Given the description of an element on the screen output the (x, y) to click on. 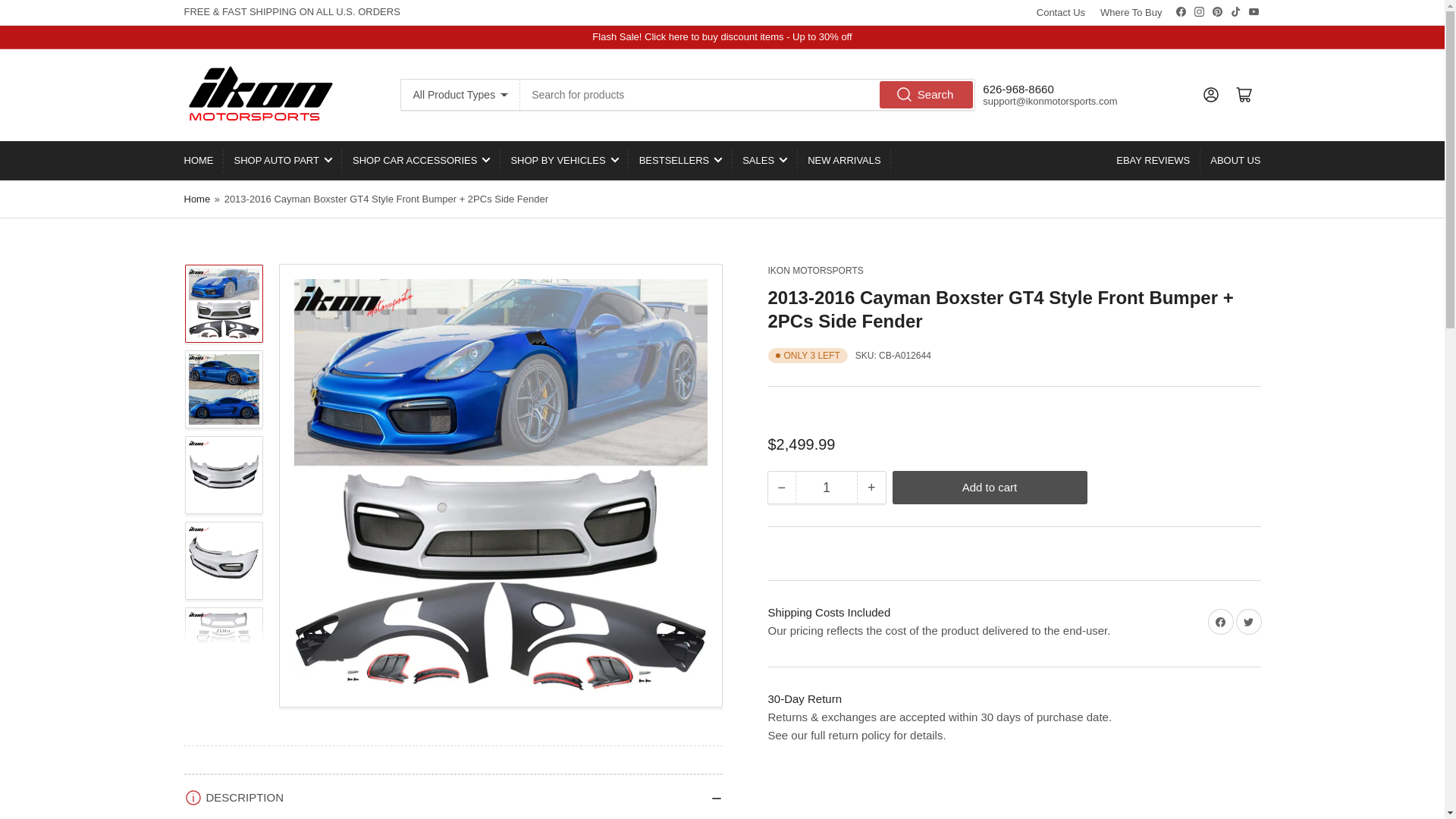
Where To Buy (1130, 12)
TikTok (1235, 11)
Contact Us (1060, 12)
1 (825, 487)
Ikon Motorsports (815, 270)
Shipping Policy (828, 612)
Search (926, 94)
Pinterest (1216, 11)
Open mini cart (1243, 94)
Facebook (1180, 11)
